Given the description of an element on the screen output the (x, y) to click on. 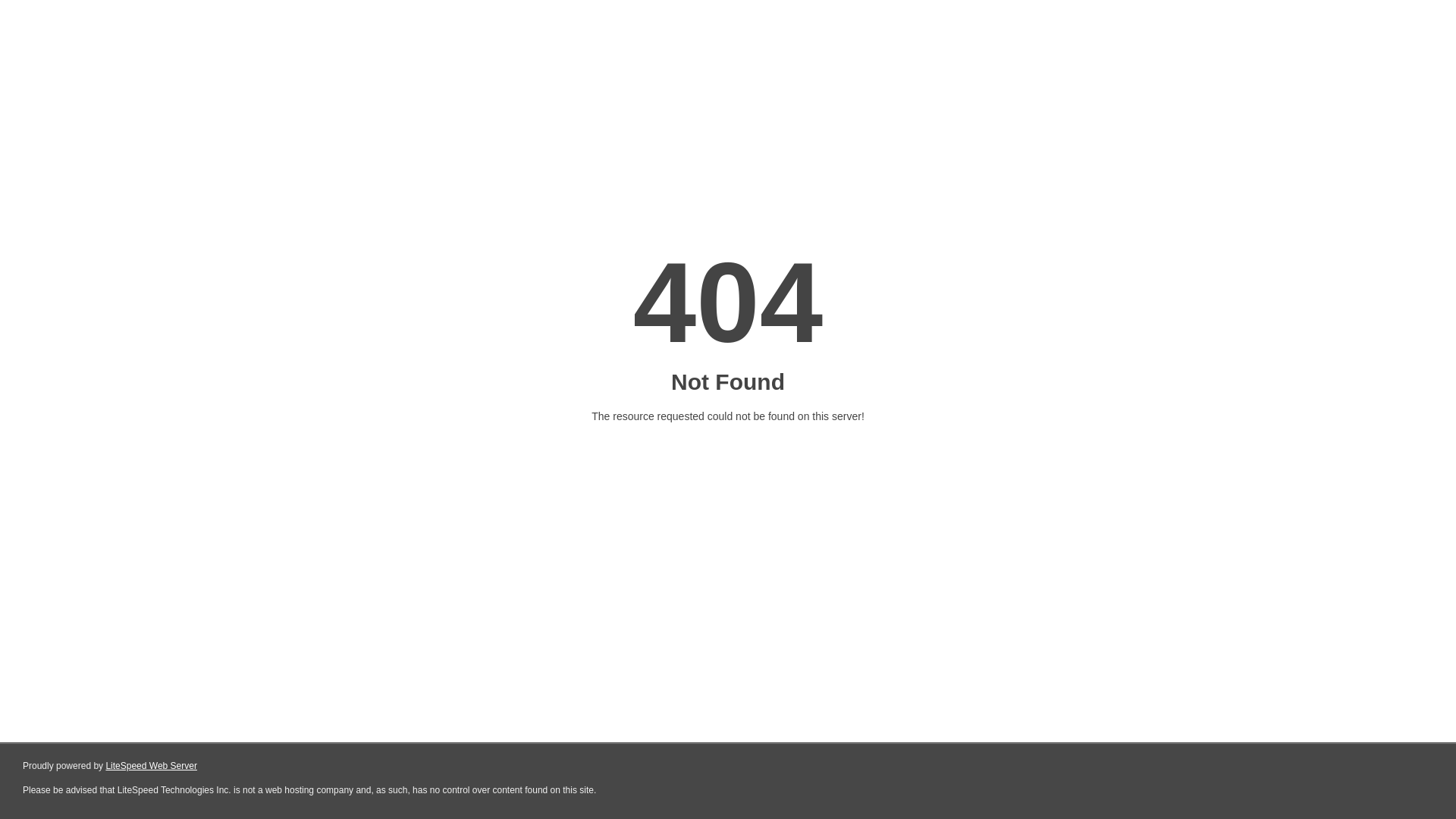
LiteSpeed Web Server Element type: text (151, 765)
